Given the description of an element on the screen output the (x, y) to click on. 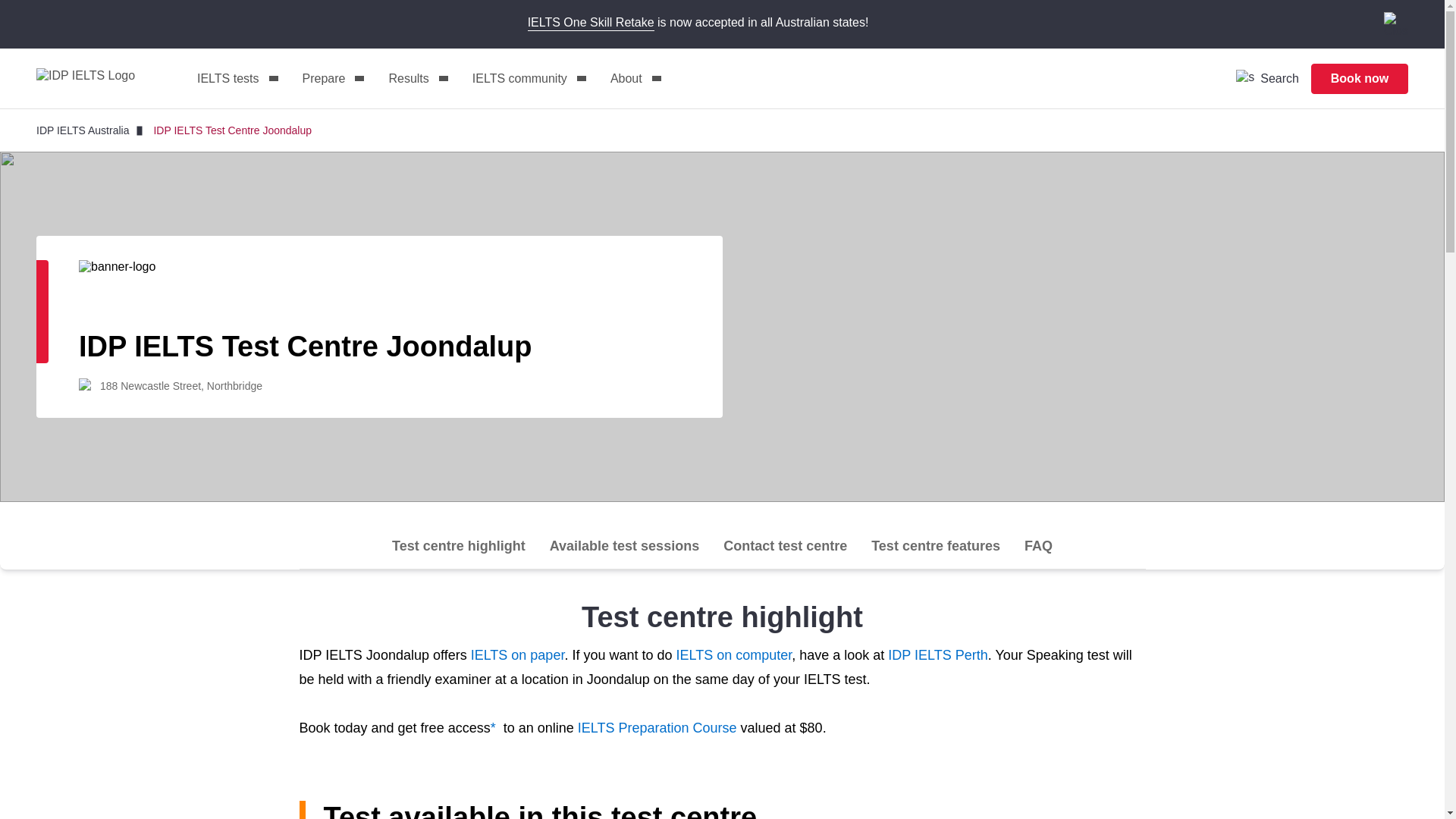
IDP IELTS (96, 78)
IELTS One Skill Retake (590, 23)
IELTS tests (236, 78)
IELTS tests (236, 78)
